Given the description of an element on the screen output the (x, y) to click on. 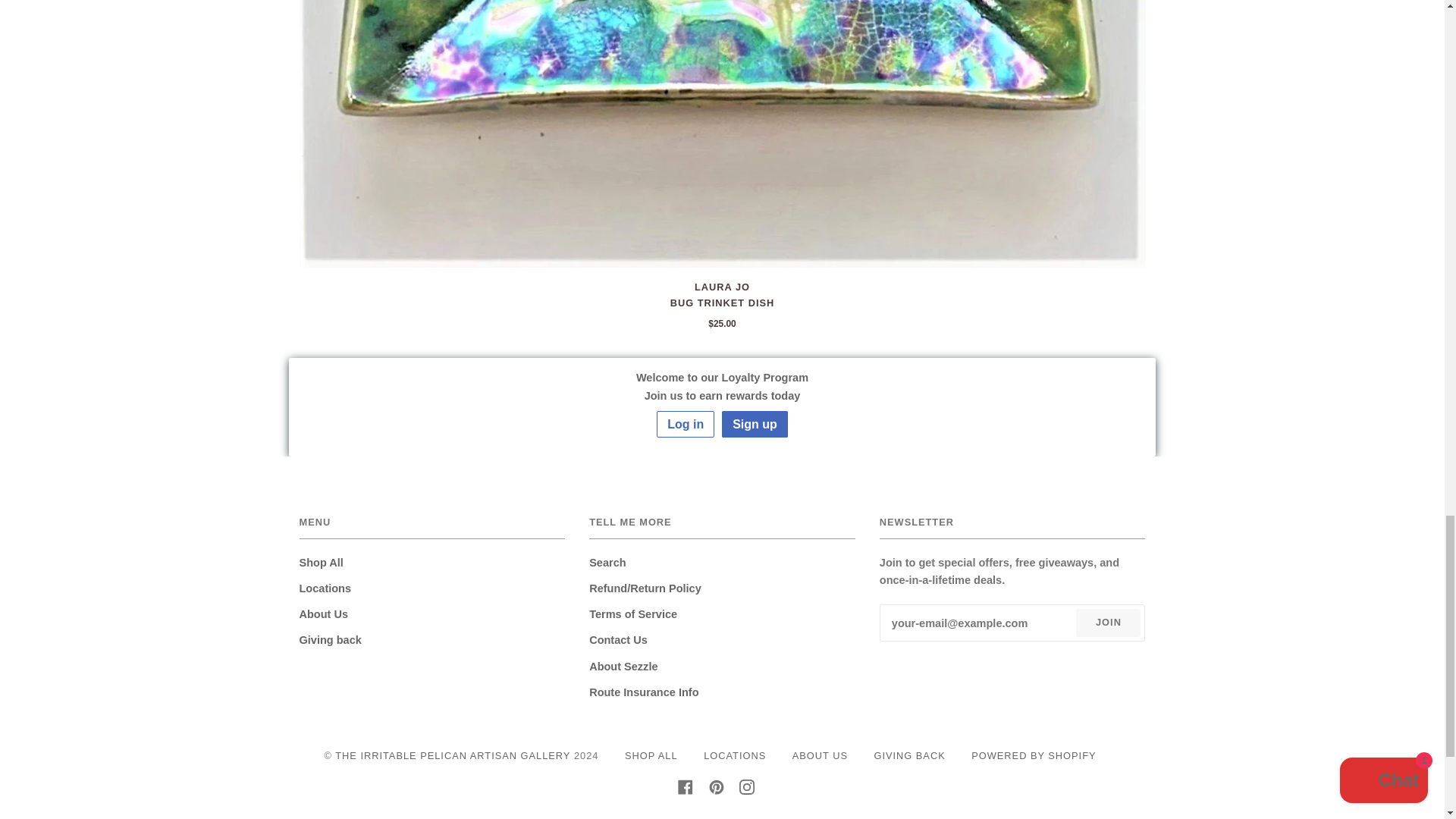
Instagram (746, 786)
Facebook (685, 786)
Pinterest (715, 786)
